Given the description of an element on the screen output the (x, y) to click on. 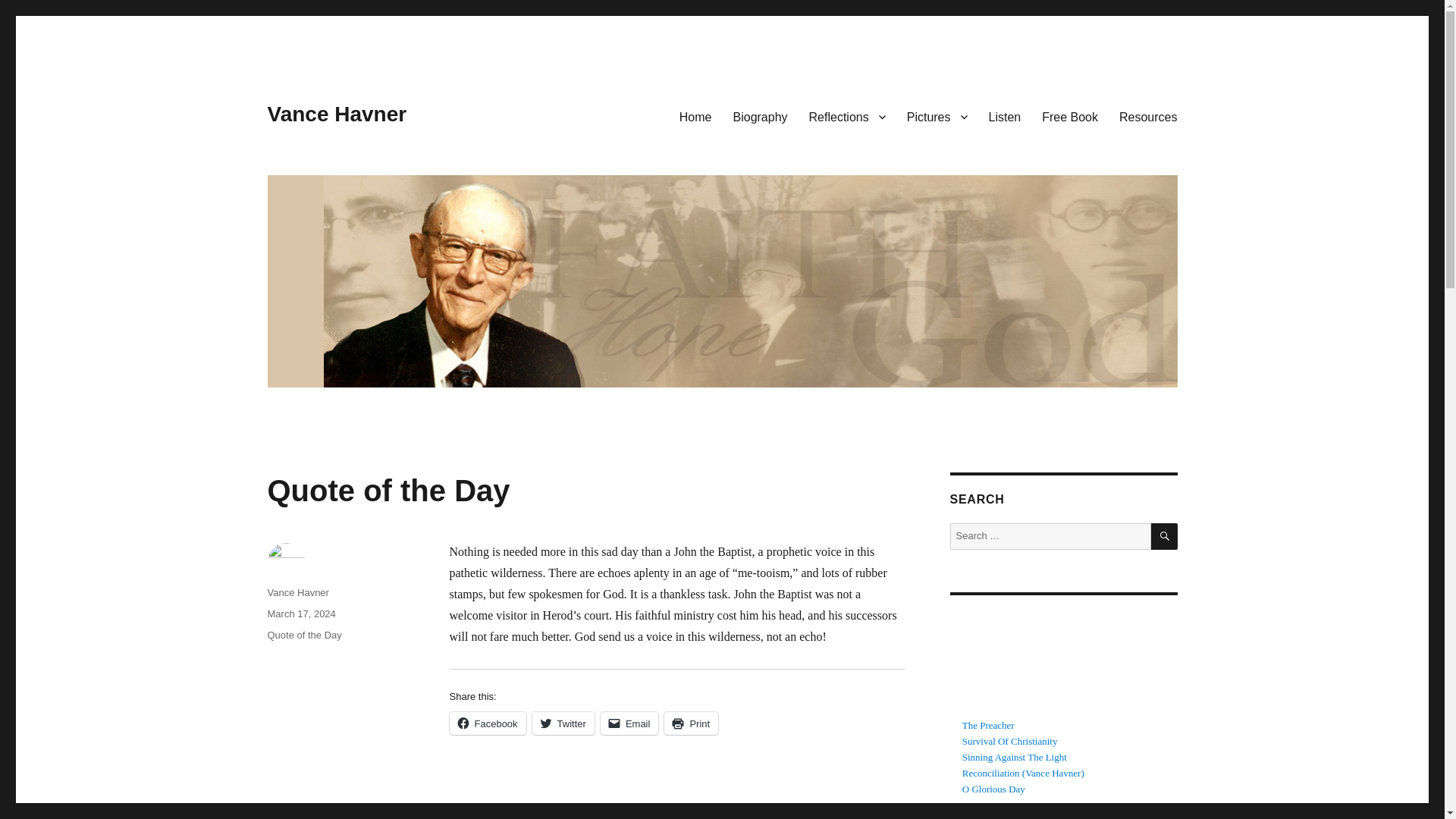
Click to share on Twitter (563, 722)
Click to share on Facebook (486, 722)
Click to email a link to a friend (629, 722)
Click to print (690, 722)
Vance Havner (336, 114)
Pictures (937, 116)
Reflections (846, 116)
Biography (759, 116)
Home (695, 116)
Spotify Embed: Vance Havner Podcast (1062, 659)
